Given the description of an element on the screen output the (x, y) to click on. 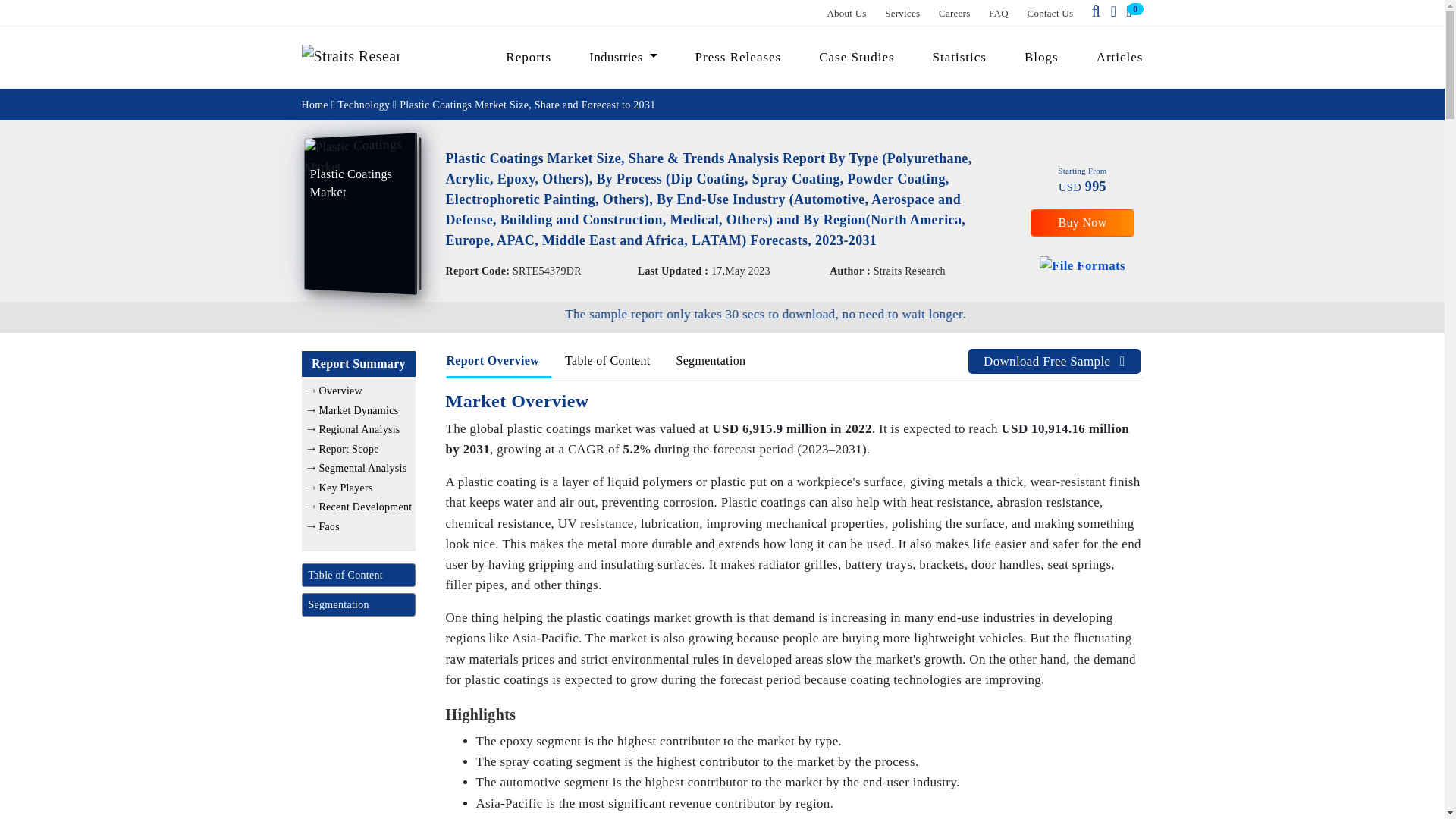
Contact Us (1050, 12)
Key Players (345, 487)
Press Releases (738, 56)
Home (315, 103)
Statistics (959, 56)
Faqs (328, 525)
Case Studies (856, 56)
Reports (528, 56)
Blogs (1041, 56)
Report Scope (348, 448)
